Given the description of an element on the screen output the (x, y) to click on. 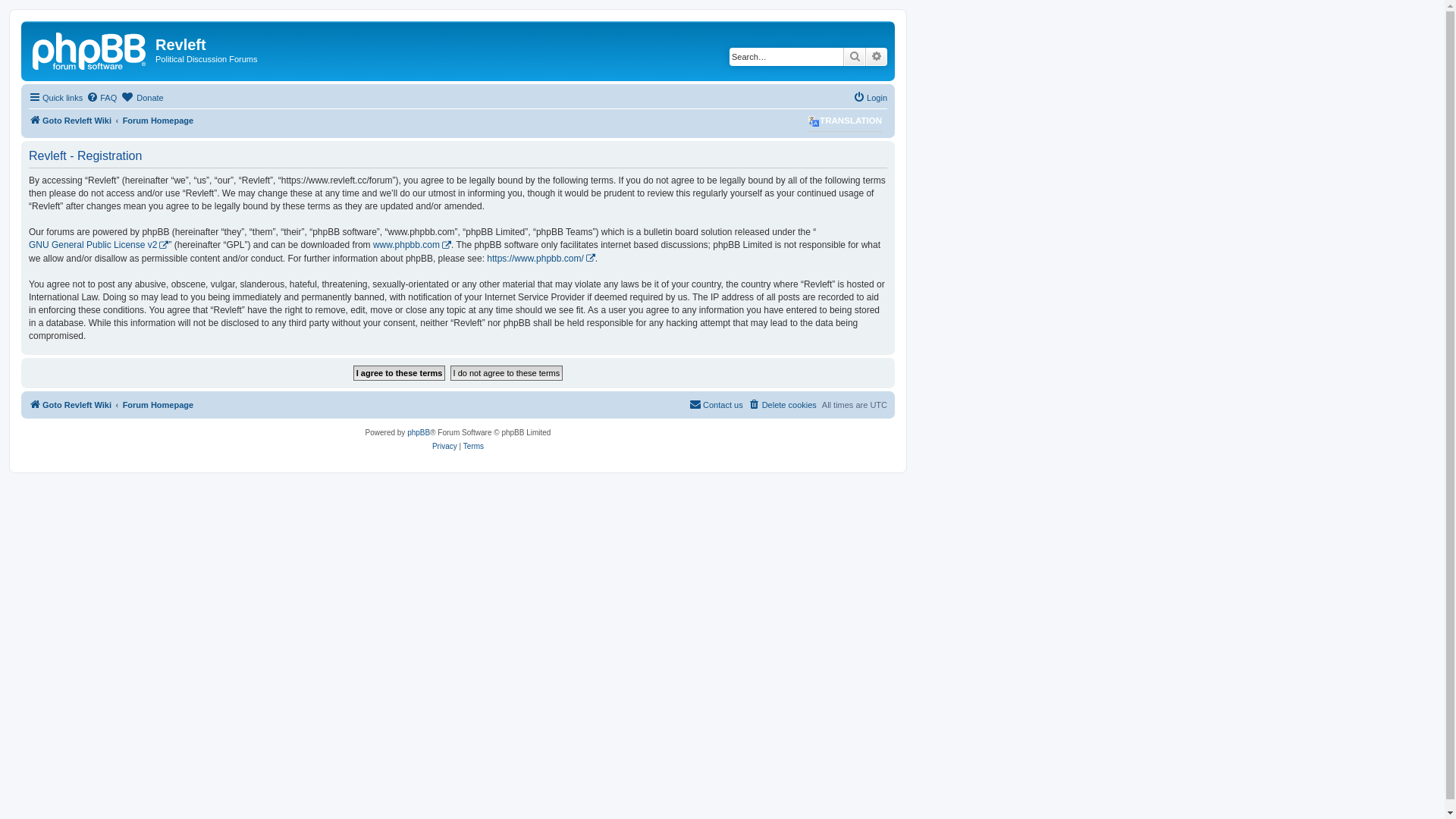
Login Element type: text (870, 97)
FAQ Element type: text (101, 97)
Delete cookies Element type: text (782, 404)
https://www.phpbb.com/ Element type: text (540, 257)
Goto Revleft Wiki Element type: text (69, 120)
GNU General Public License v2 Element type: text (98, 244)
Donate Element type: text (142, 97)
Forum Homepage Element type: text (158, 404)
Terms Element type: text (473, 446)
Search Element type: text (854, 56)
Forum Homepage Element type: text (158, 120)
Contact us Element type: text (716, 404)
Goto Revleft Wiki Element type: hover (90, 49)
Search for keywords Element type: hover (786, 56)
I do not agree to these terms Element type: text (506, 373)
Advanced search Element type: text (876, 56)
www.phpbb.com Element type: text (412, 244)
I agree to these terms Element type: text (399, 373)
phpBB Element type: text (418, 432)
Goto Revleft Wiki Element type: text (69, 404)
Quick links Element type: text (55, 97)
Privacy Element type: text (444, 446)
